Given the description of an element on the screen output the (x, y) to click on. 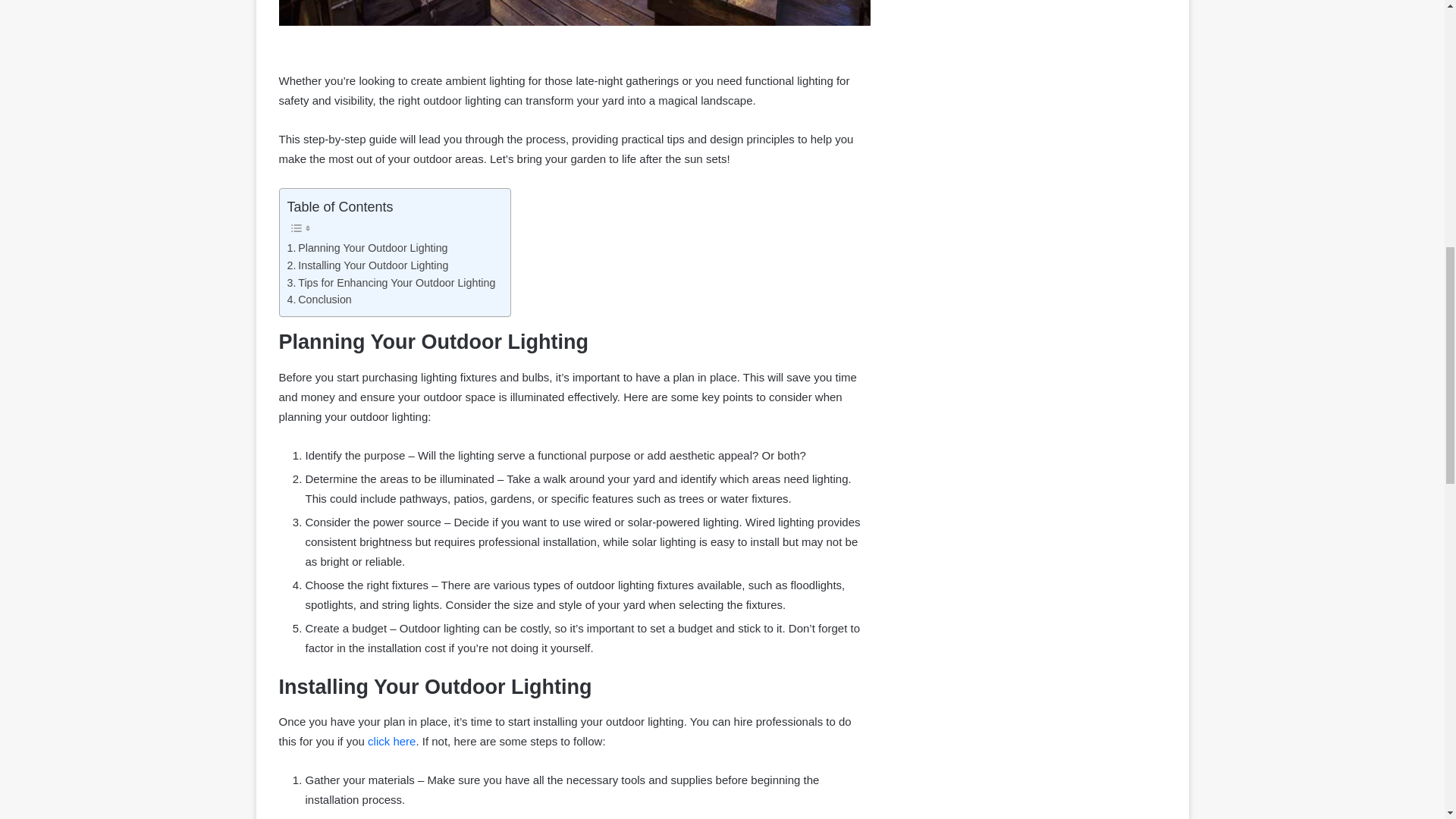
click here (391, 740)
Planning Your Outdoor Lighting (366, 248)
Installing Your Outdoor Lighting (367, 265)
Tips for Enhancing Your Outdoor Lighting (390, 282)
Conclusion (318, 299)
